Given the description of an element on the screen output the (x, y) to click on. 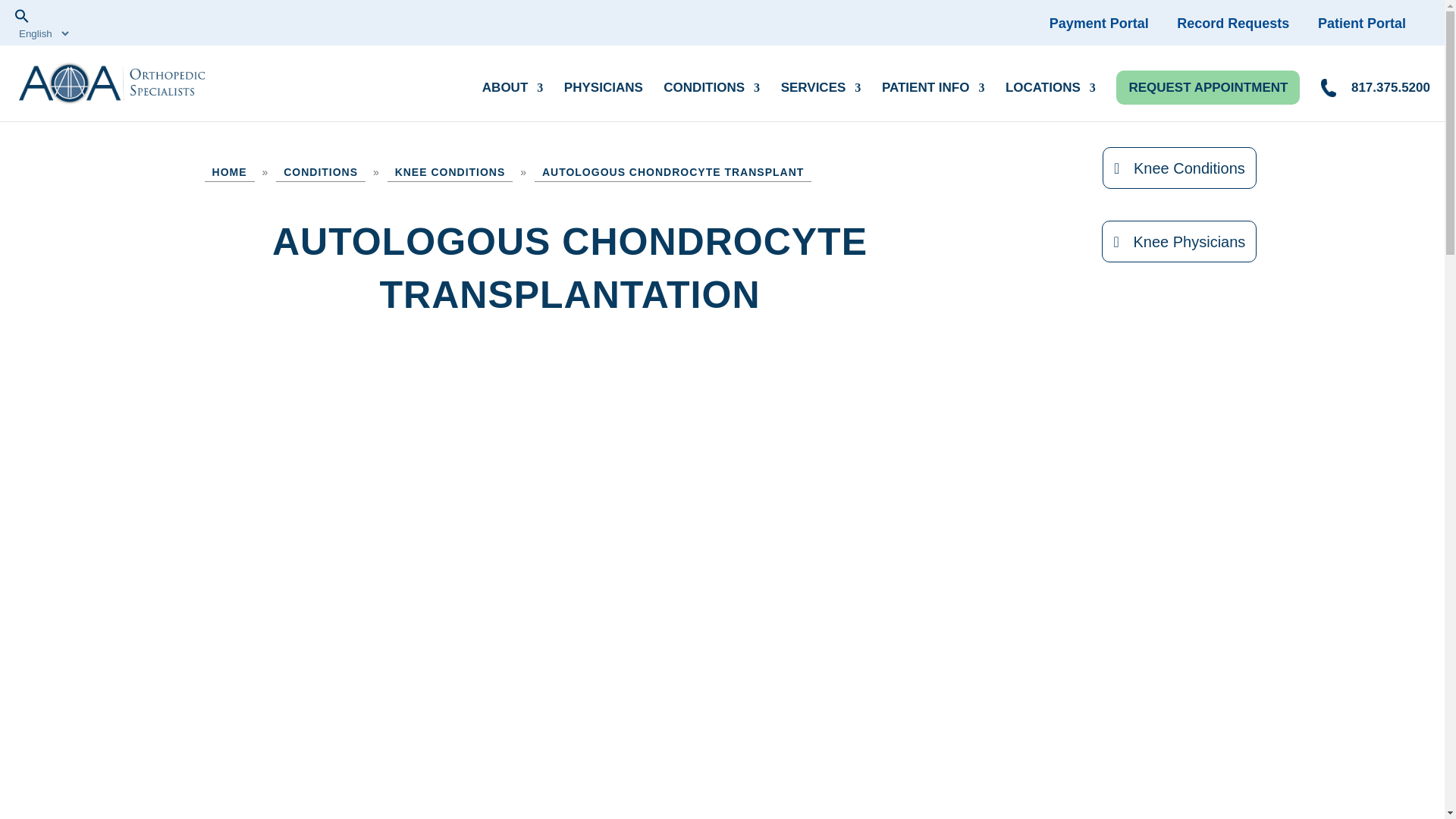
Autologous Chondrocyte Transplant (672, 171)
Conditions (320, 171)
Record Requests (1244, 22)
Payment Portal (1111, 22)
ABOUT (512, 94)
LOCATIONS (1051, 94)
CONDITIONS (711, 94)
Patient Portal (1373, 22)
PHYSICIANS (603, 94)
Knee Conditions (450, 171)
Home (229, 171)
PATIENT INFO (933, 94)
SERVICES (820, 94)
